Given the description of an element on the screen output the (x, y) to click on. 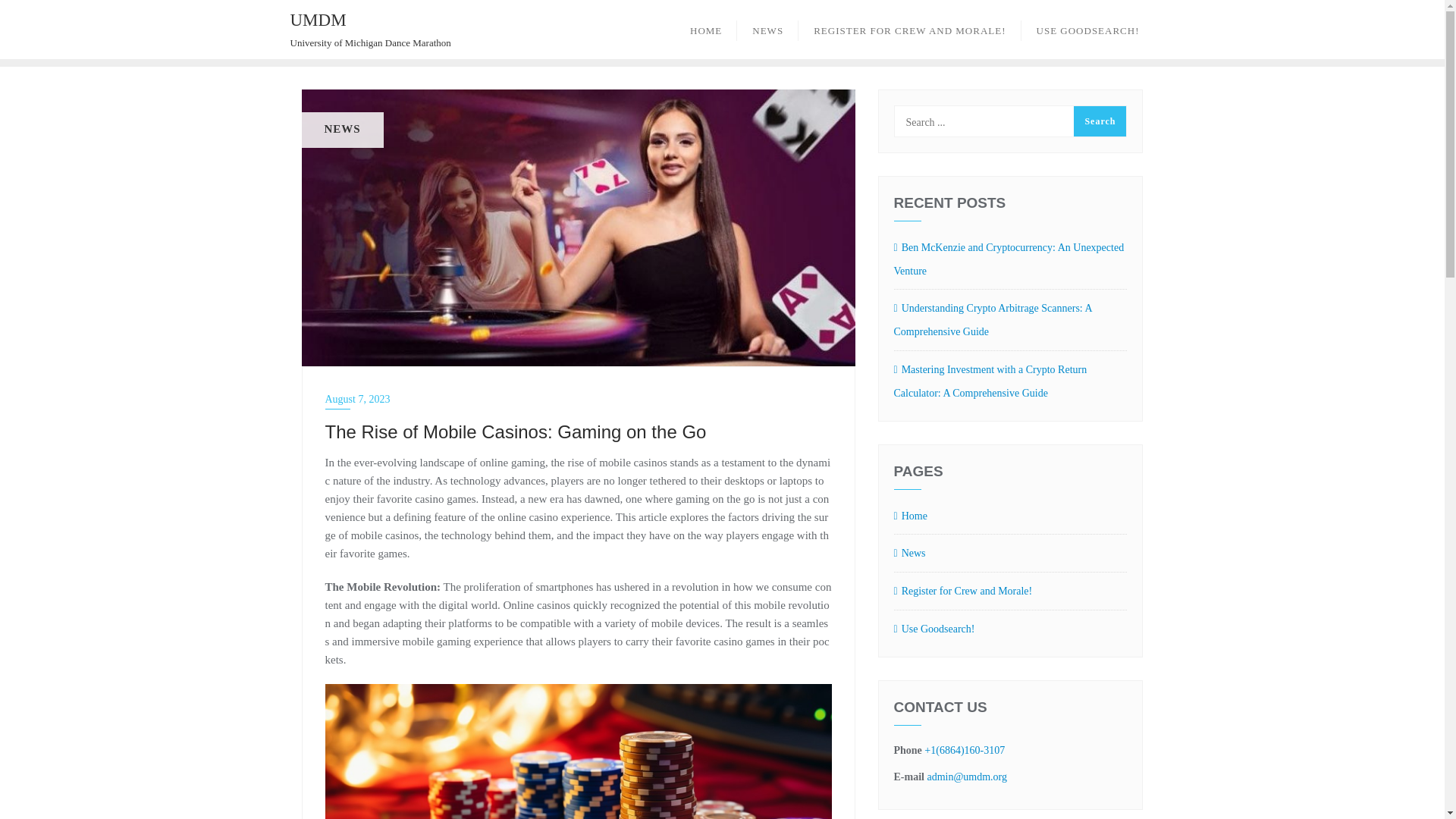
Register for Crew and Morale! (1009, 591)
August 7, 2023 (577, 398)
News (1009, 553)
HOME (705, 29)
REGISTER FOR CREW AND MORALE! (908, 29)
Search (1099, 121)
USE GOODSEARCH! (1088, 29)
Search (369, 29)
